Given the description of an element on the screen output the (x, y) to click on. 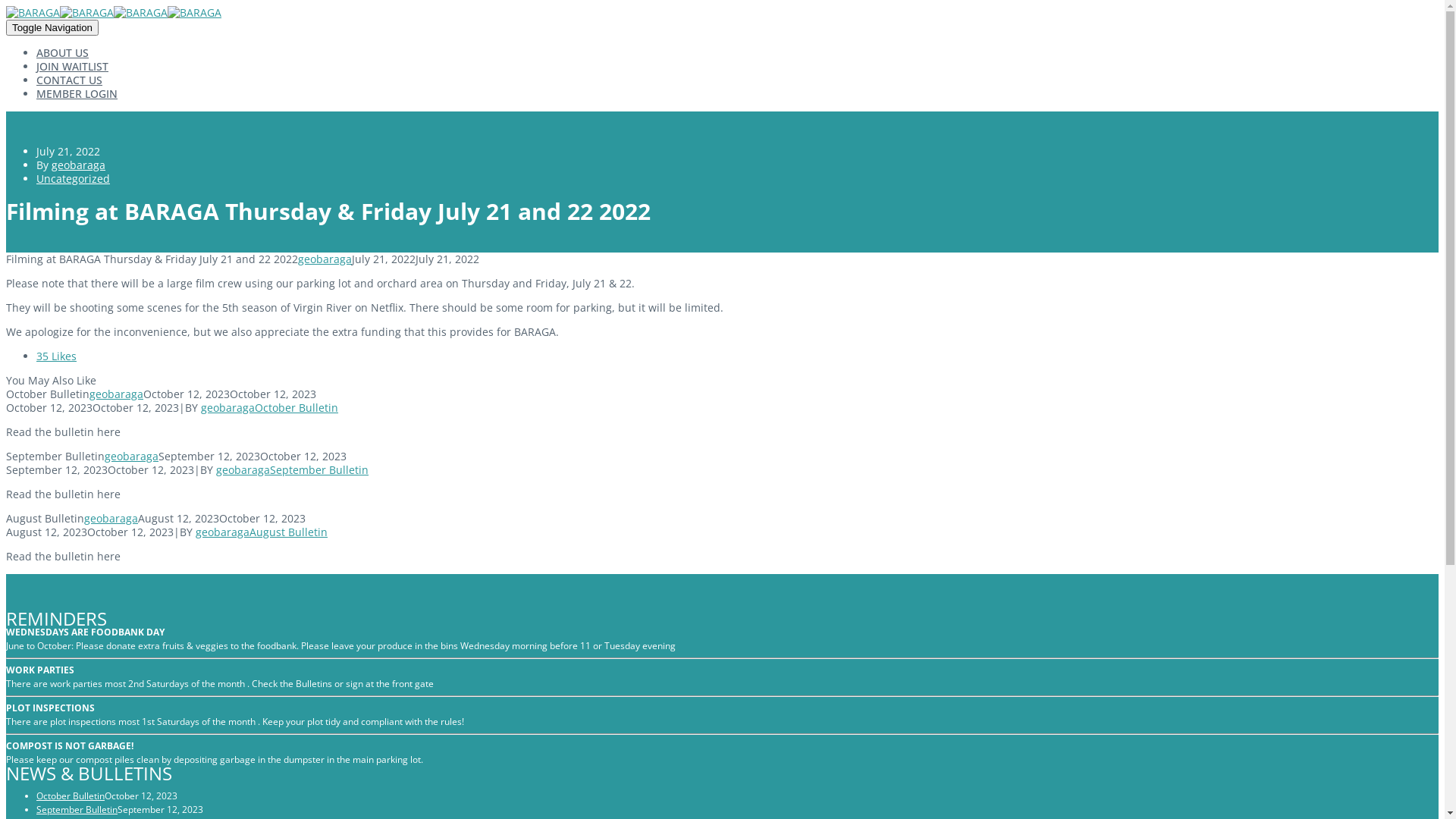
ABOUT US Element type: text (62, 52)
September Bulletin Element type: text (76, 809)
geobaraga Element type: text (222, 531)
geobaraga Element type: text (227, 407)
MEMBER LOGIN Element type: text (76, 93)
geobaraga Element type: text (111, 518)
Toggle Navigation Element type: text (52, 27)
geobaraga Element type: text (324, 258)
October Bulletin Element type: text (70, 795)
35 Likes Element type: text (56, 355)
Uncategorized Element type: text (72, 178)
September Bulletin Element type: text (318, 469)
geobaraga Element type: text (78, 164)
geobaraga Element type: text (131, 455)
geobaraga Element type: text (116, 393)
CONTACT US Element type: text (69, 79)
BARAGA Element type: hover (167, 12)
JOIN WAITLIST Element type: text (72, 66)
October Bulletin Element type: text (296, 407)
August Bulletin Element type: text (288, 531)
geobaraga Element type: text (242, 469)
BARAGA Element type: hover (59, 12)
